Given the description of an element on the screen output the (x, y) to click on. 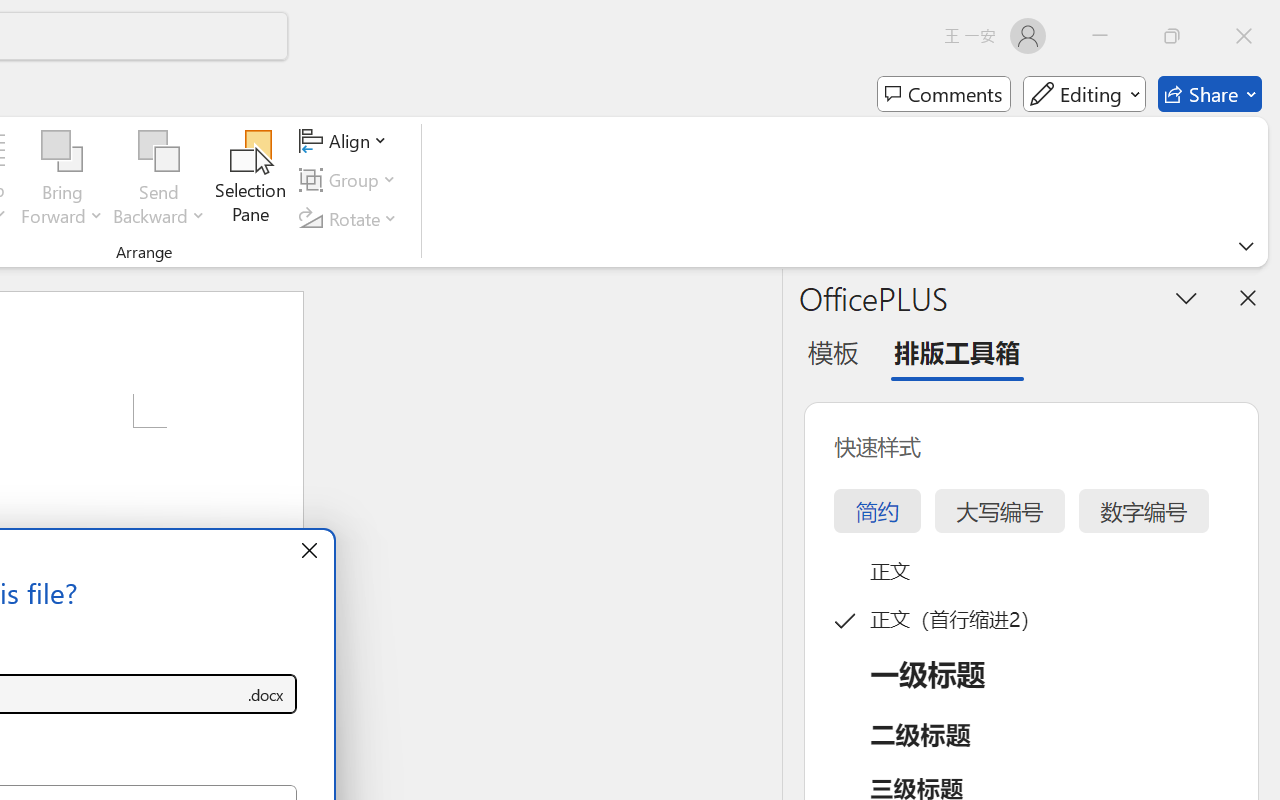
Selection Pane... (251, 179)
Save as type (265, 694)
Bring Forward (62, 179)
Send Backward (159, 179)
